Given the description of an element on the screen output the (x, y) to click on. 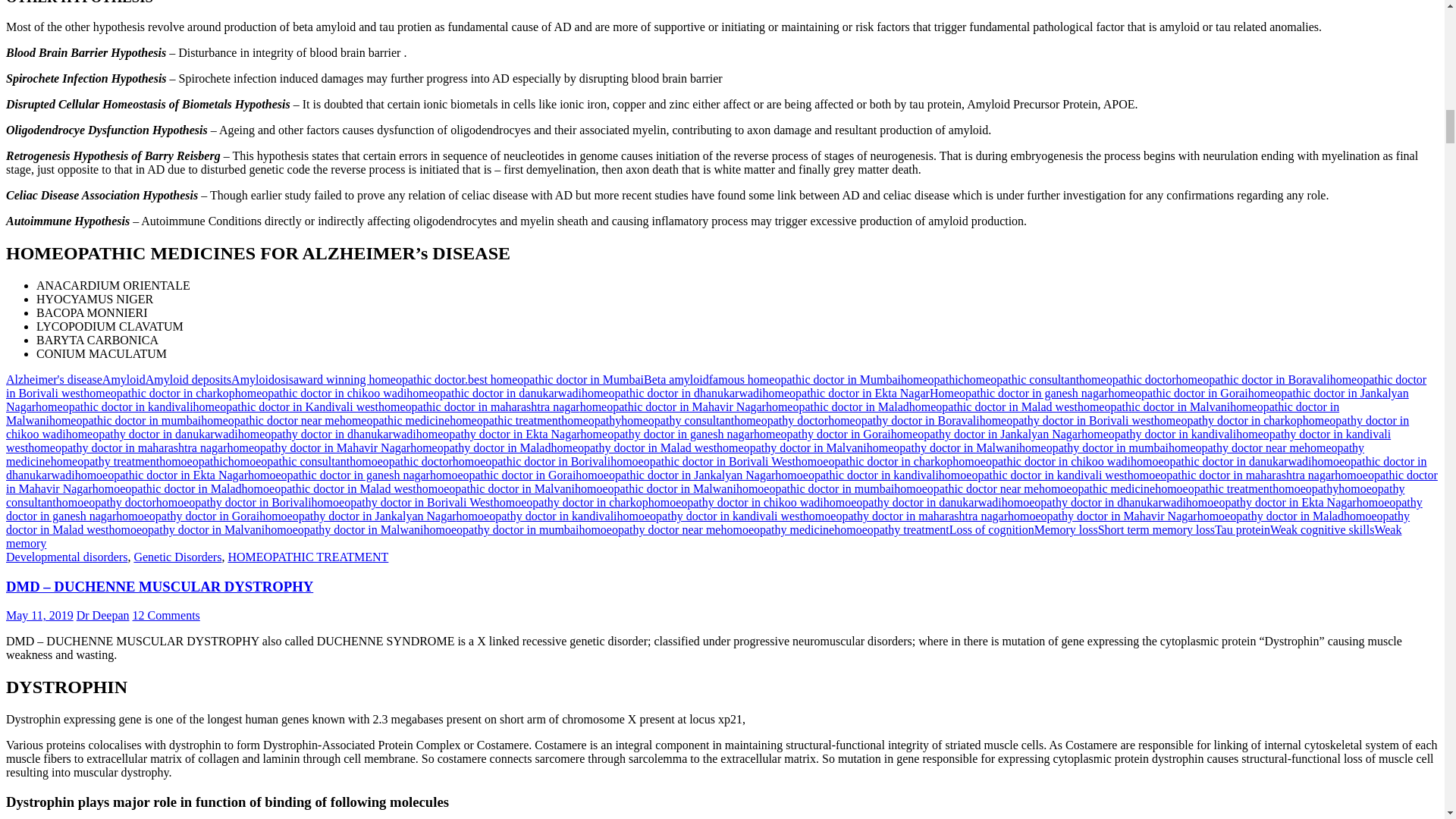
Alzheimer's disease (53, 379)
award winning homeopathic doctor. (380, 379)
homeopathic (932, 379)
Amyloidosis (262, 379)
homeopathic doctor in danukarwadi (493, 392)
best homeopathic doctor in Mumbai (555, 379)
homeopathic doctor in Boravali (1253, 379)
homeopathic doctor in Borivali west (715, 386)
homeopathic doctor (1127, 379)
homeopathic consultant (1020, 379)
Amyloid deposits (188, 379)
homeopathic doctor in charkop (158, 392)
homeopathic doctor in chikoo wadi (320, 392)
Beta amyloid (676, 379)
famous homeopathic doctor in Mumbai (805, 379)
